Given the description of an element on the screen output the (x, y) to click on. 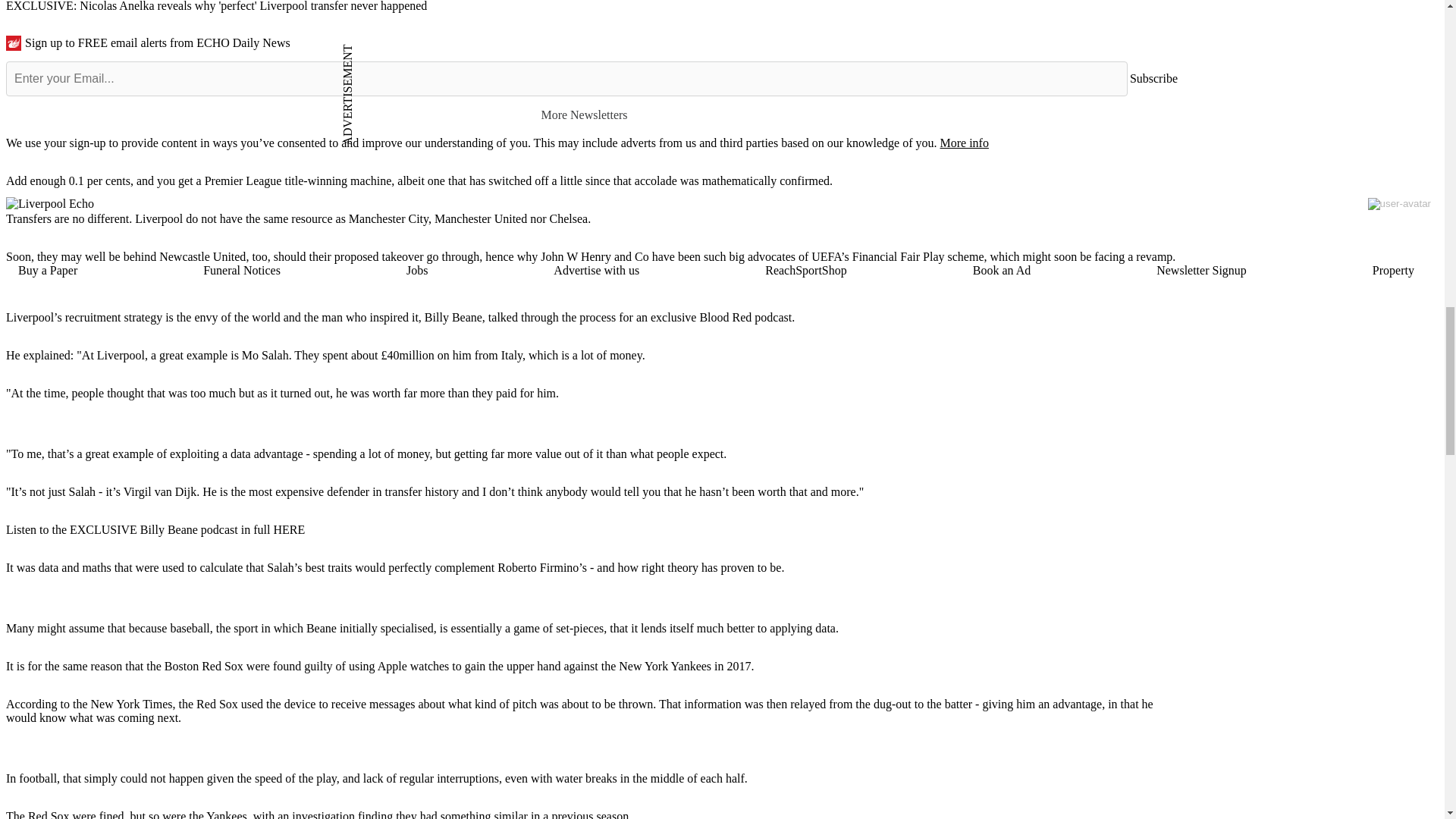
HERE (288, 529)
Premier League (243, 180)
Subscribe (1153, 78)
More info (963, 142)
Manchester United (480, 218)
exclusive Blood Red podcast (721, 317)
Virgil van Dijk (159, 491)
Chelsea (569, 218)
John W Henry (575, 256)
Manchester City (388, 218)
Newcastle United (202, 256)
More Newsletters (591, 114)
